Given the description of an element on the screen output the (x, y) to click on. 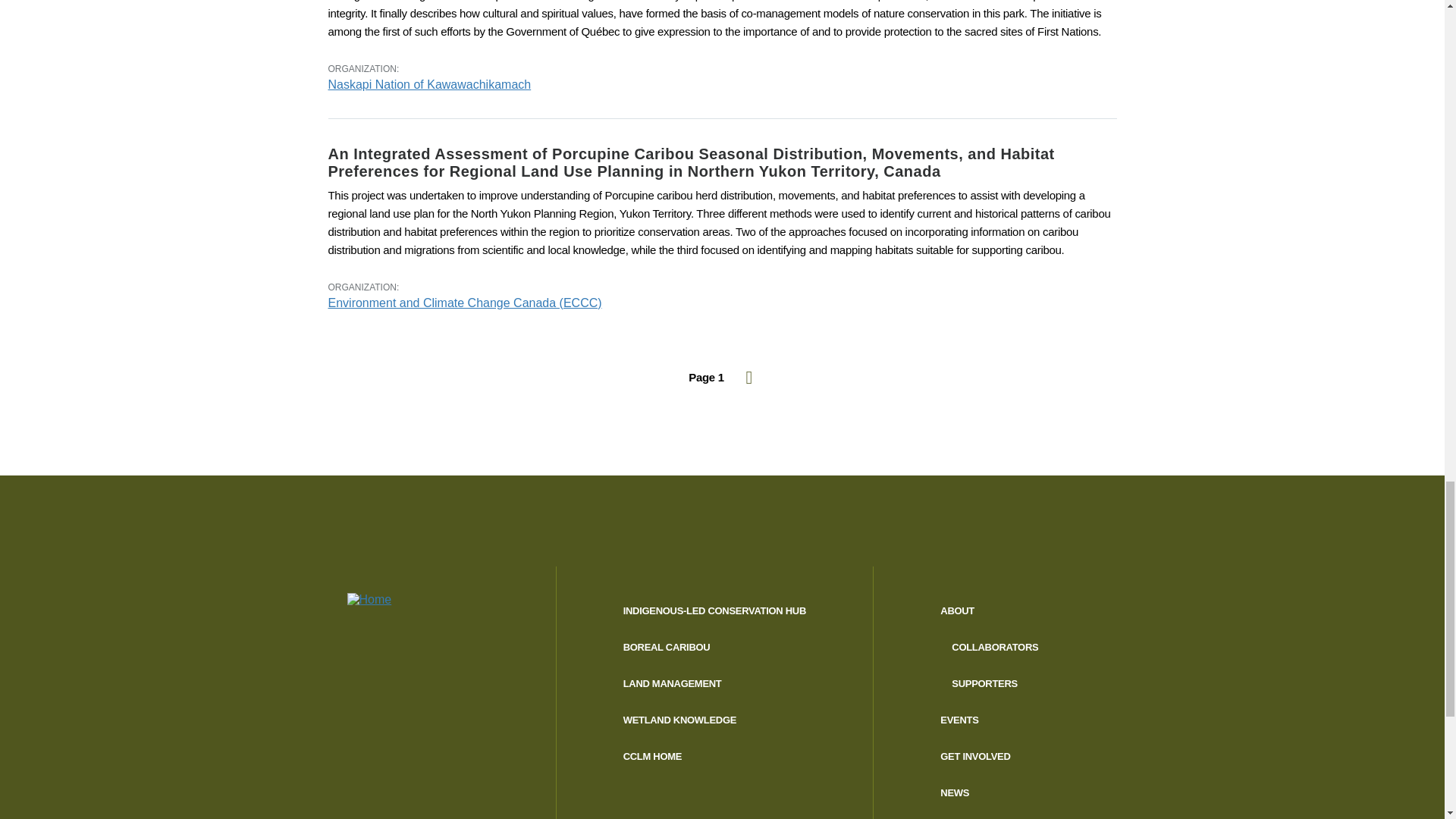
Go to next page (748, 377)
Home (439, 615)
